Given the description of an element on the screen output the (x, y) to click on. 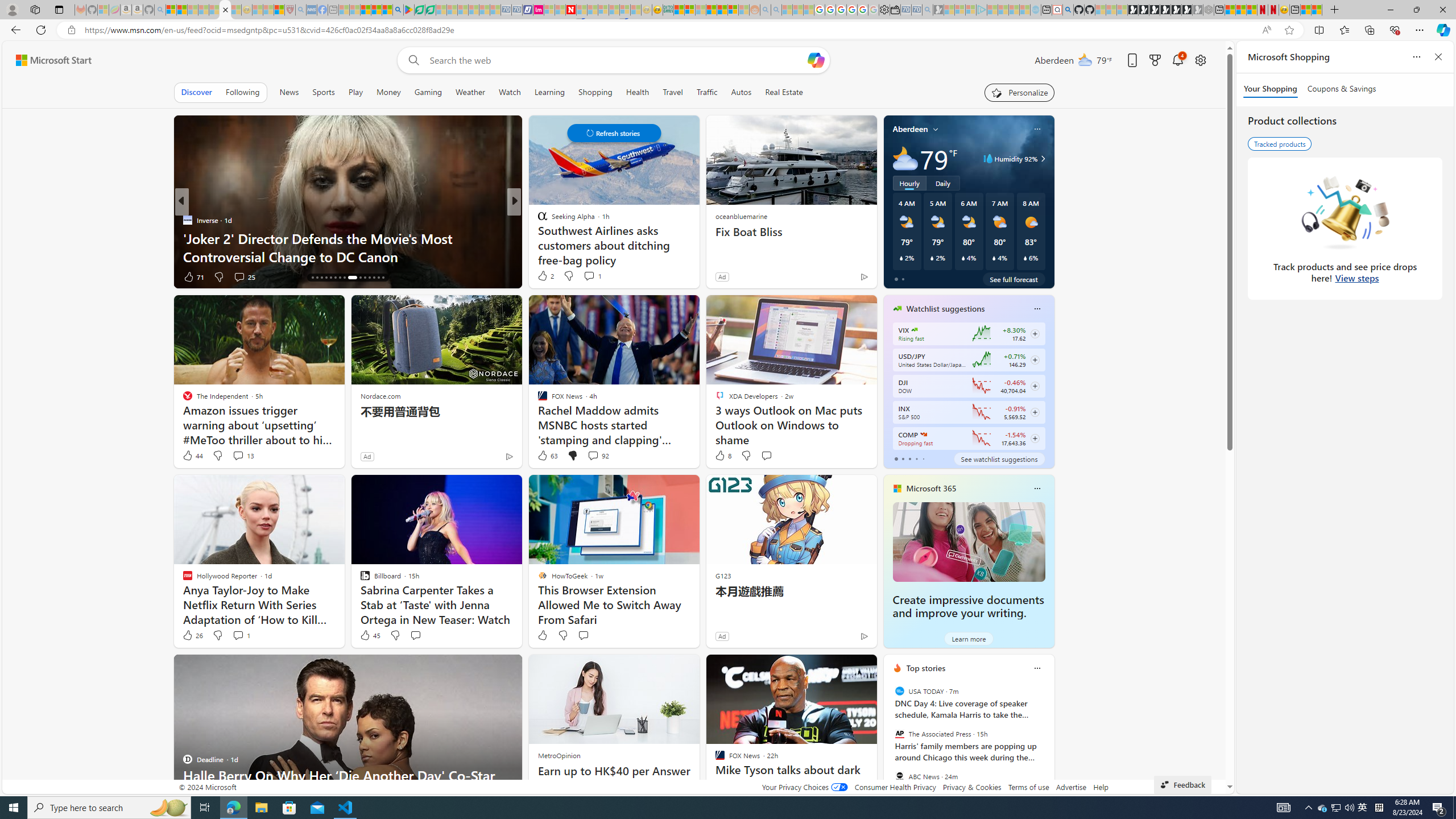
Start the conversation (582, 635)
More options (1037, 668)
Real Estate (783, 92)
App bar (728, 29)
Watchlist suggestions (945, 308)
Weather (470, 92)
News (288, 92)
AutomationID: tab-18 (321, 277)
Ad Choice (863, 635)
